Given the description of an element on the screen output the (x, y) to click on. 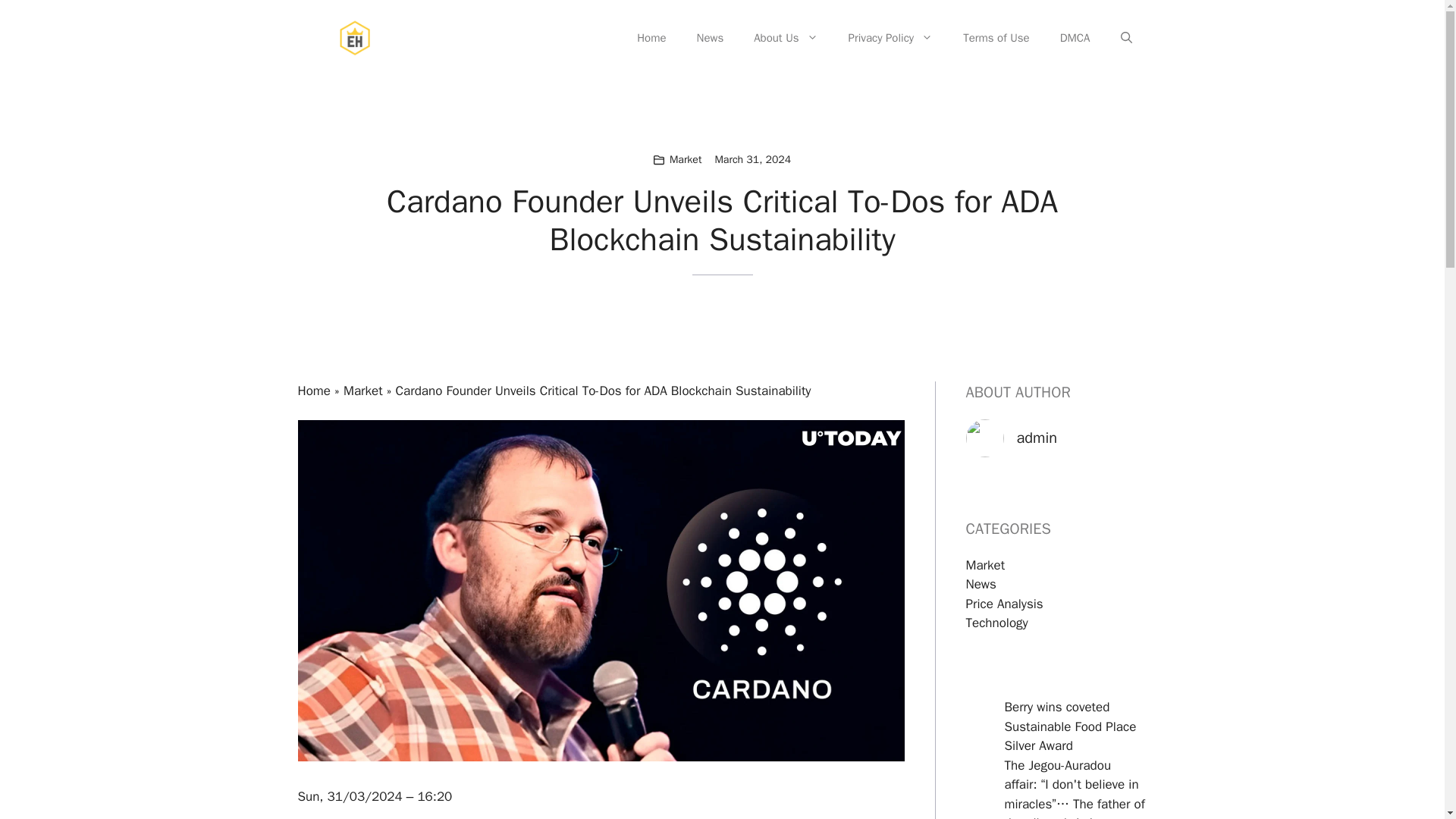
admin (1036, 437)
DMCA (1075, 37)
Technology (996, 622)
News (710, 37)
Home (651, 37)
Market (685, 159)
Market (986, 565)
Privacy Policy (890, 37)
Berry wins coveted Sustainable Food Place Silver Award (1069, 726)
